Given the description of an element on the screen output the (x, y) to click on. 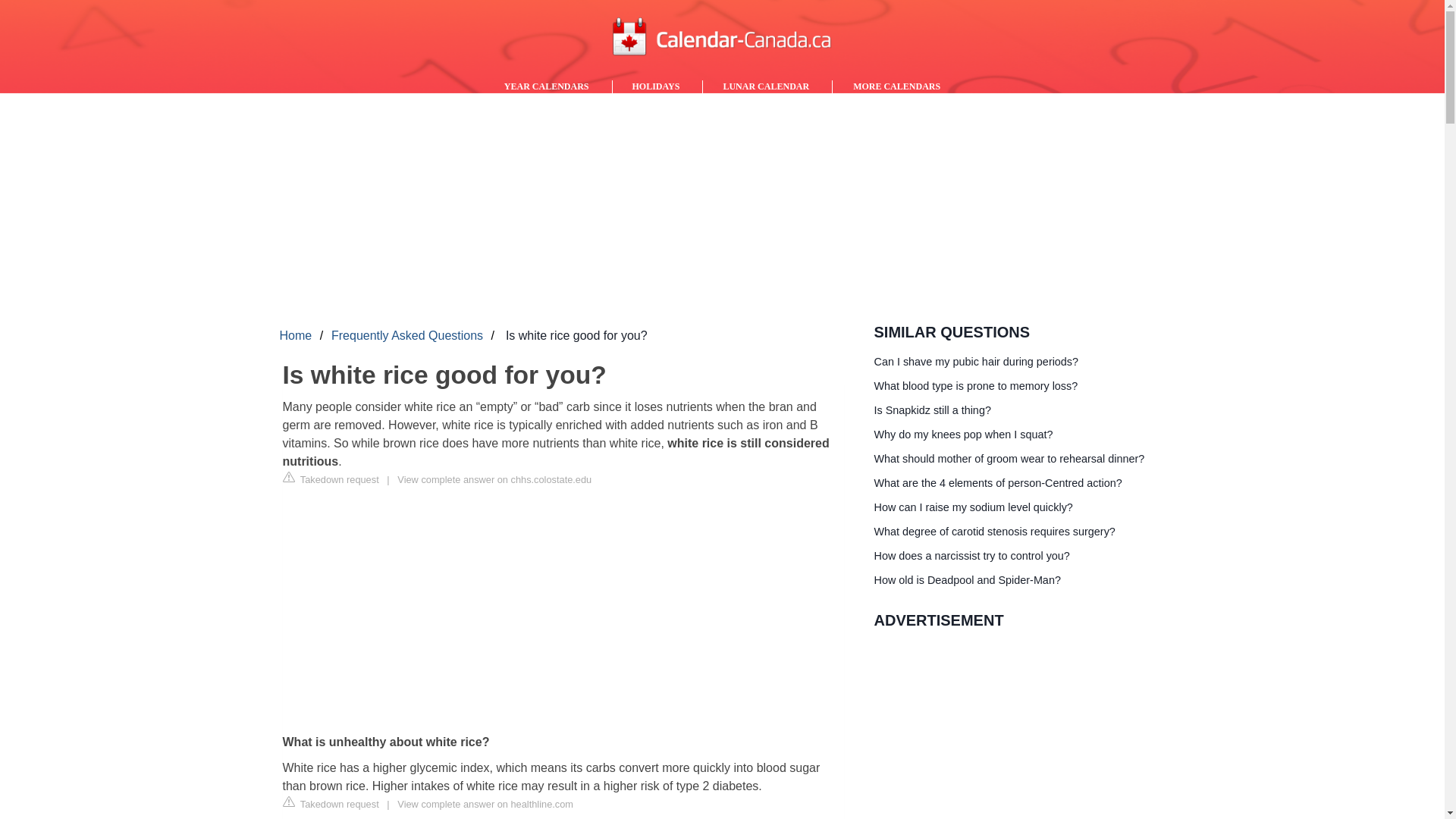
View complete answer on healthline.com (485, 803)
Frequently Asked Questions (407, 332)
View complete answer on chhs.colostate.edu (494, 479)
YEAR CALENDARS (546, 86)
Home (295, 332)
LUNAR CALENDAR (766, 86)
Takedown request (330, 802)
Takedown request (330, 478)
HOLIDAYS (656, 86)
MORE CALENDARS (895, 86)
